Given the description of an element on the screen output the (x, y) to click on. 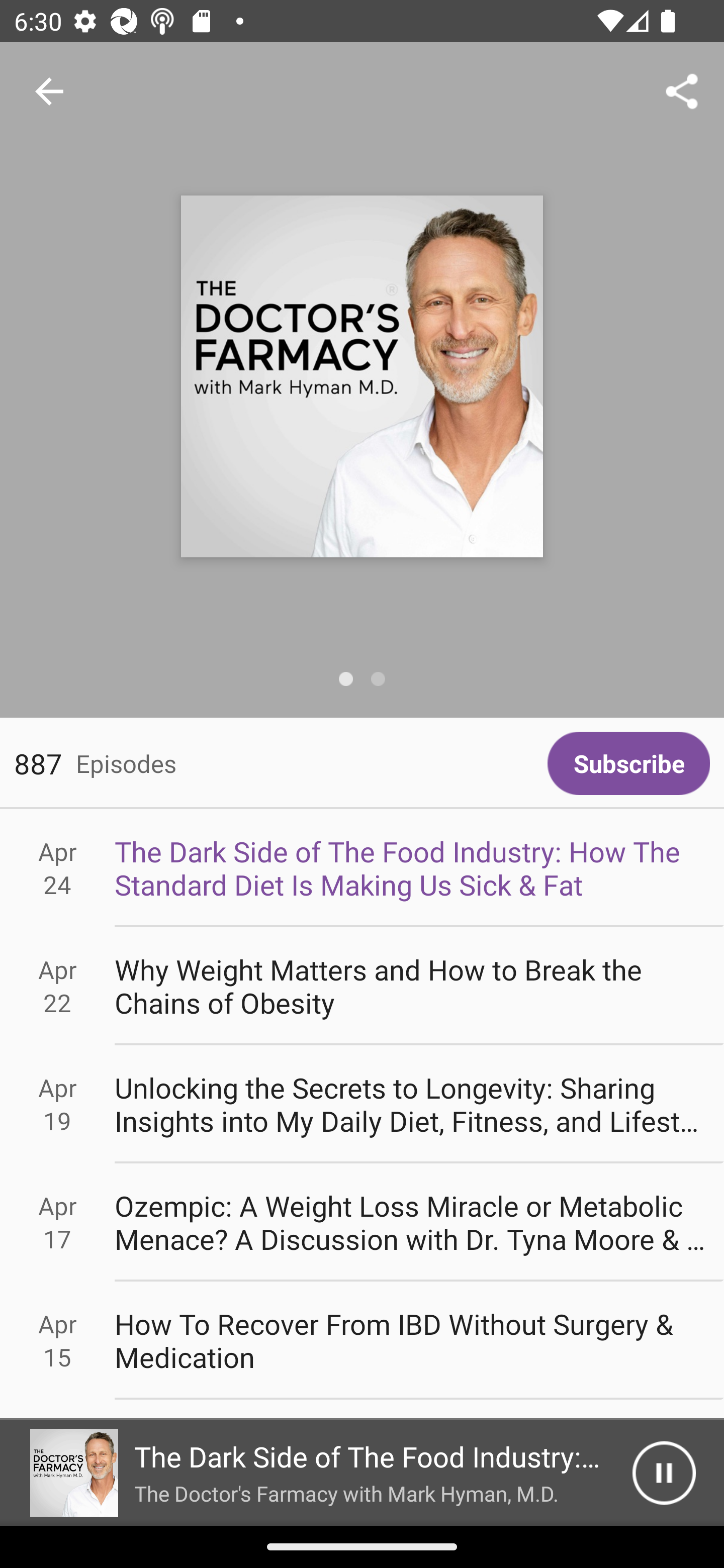
Navigate up (49, 91)
Share... (681, 90)
Subscribe (628, 763)
Pause (663, 1472)
